Given the description of an element on the screen output the (x, y) to click on. 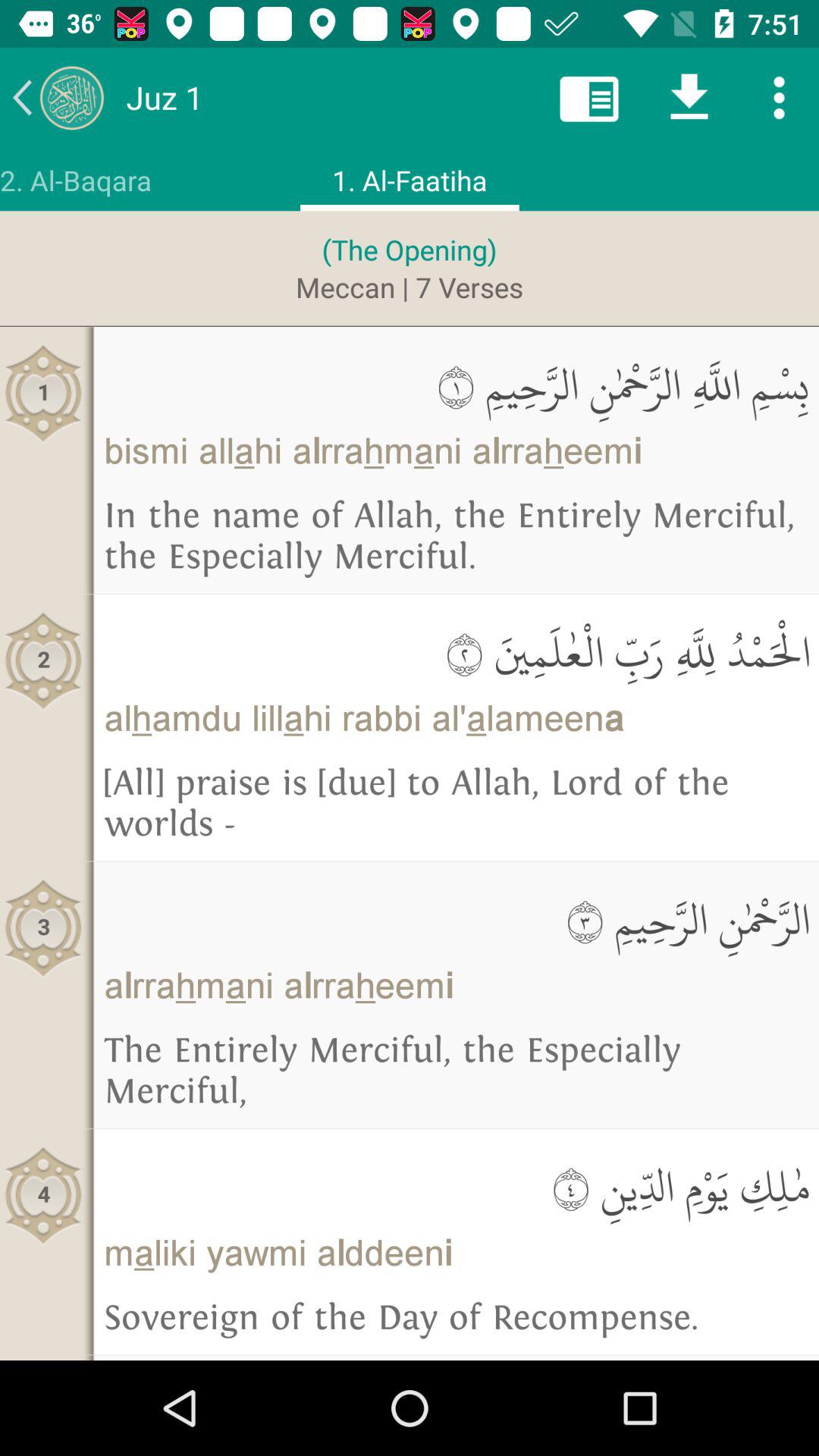
flip to alhamdu lillahi rabbi (456, 718)
